Given the description of an element on the screen output the (x, y) to click on. 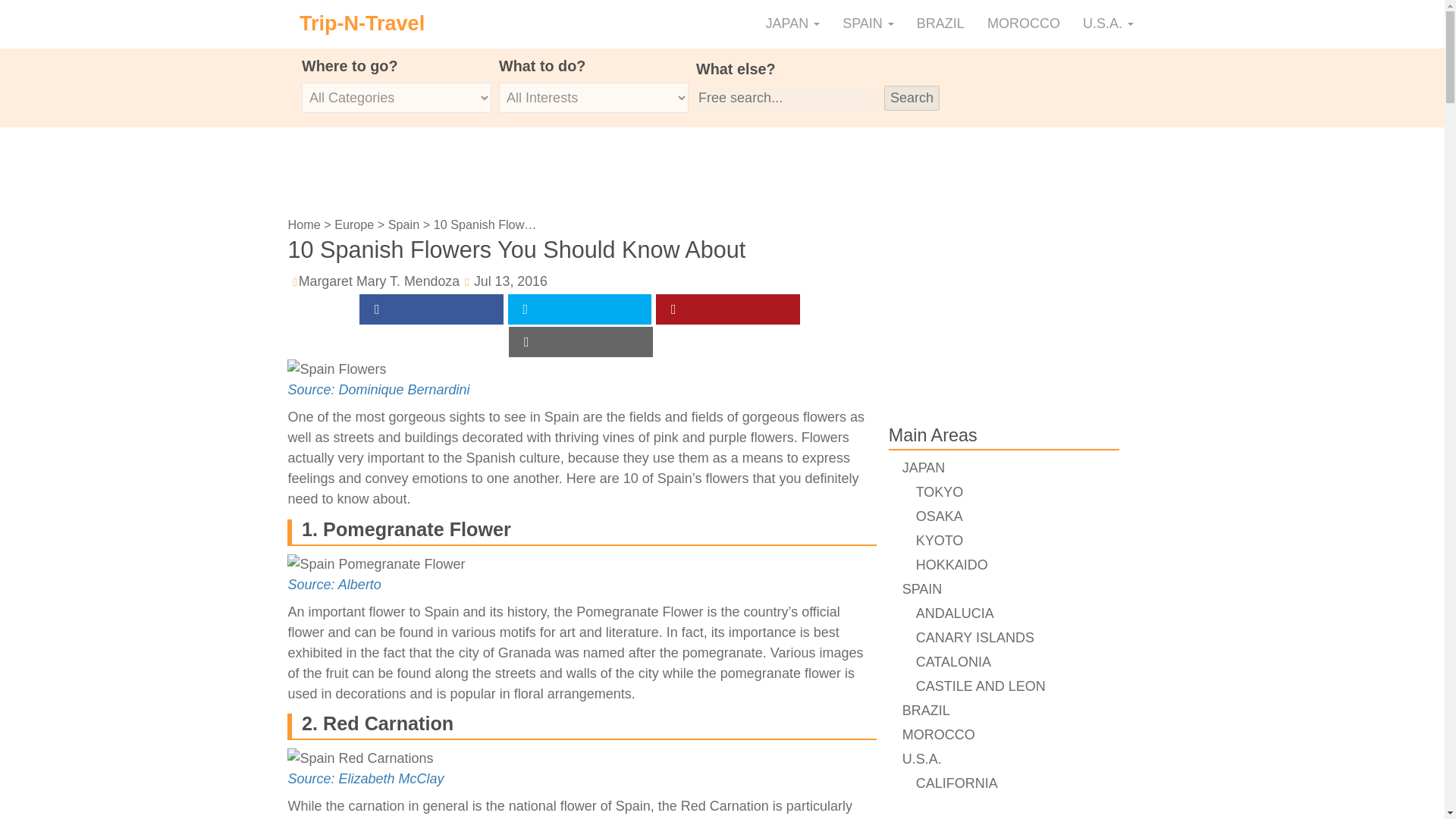
SPAIN (868, 24)
Spain (403, 223)
BRAZIL (940, 24)
Trip-N-Travel (361, 23)
Jul 13, 2016 (510, 281)
Home (303, 223)
Europe (354, 223)
Search (911, 97)
Source: Alberto (333, 584)
Source: Elizabeth McClay (365, 778)
JAPAN (792, 24)
JAPAN (792, 24)
Search (911, 97)
SPAIN (868, 24)
BRAZIL (940, 24)
